Given the description of an element on the screen output the (x, y) to click on. 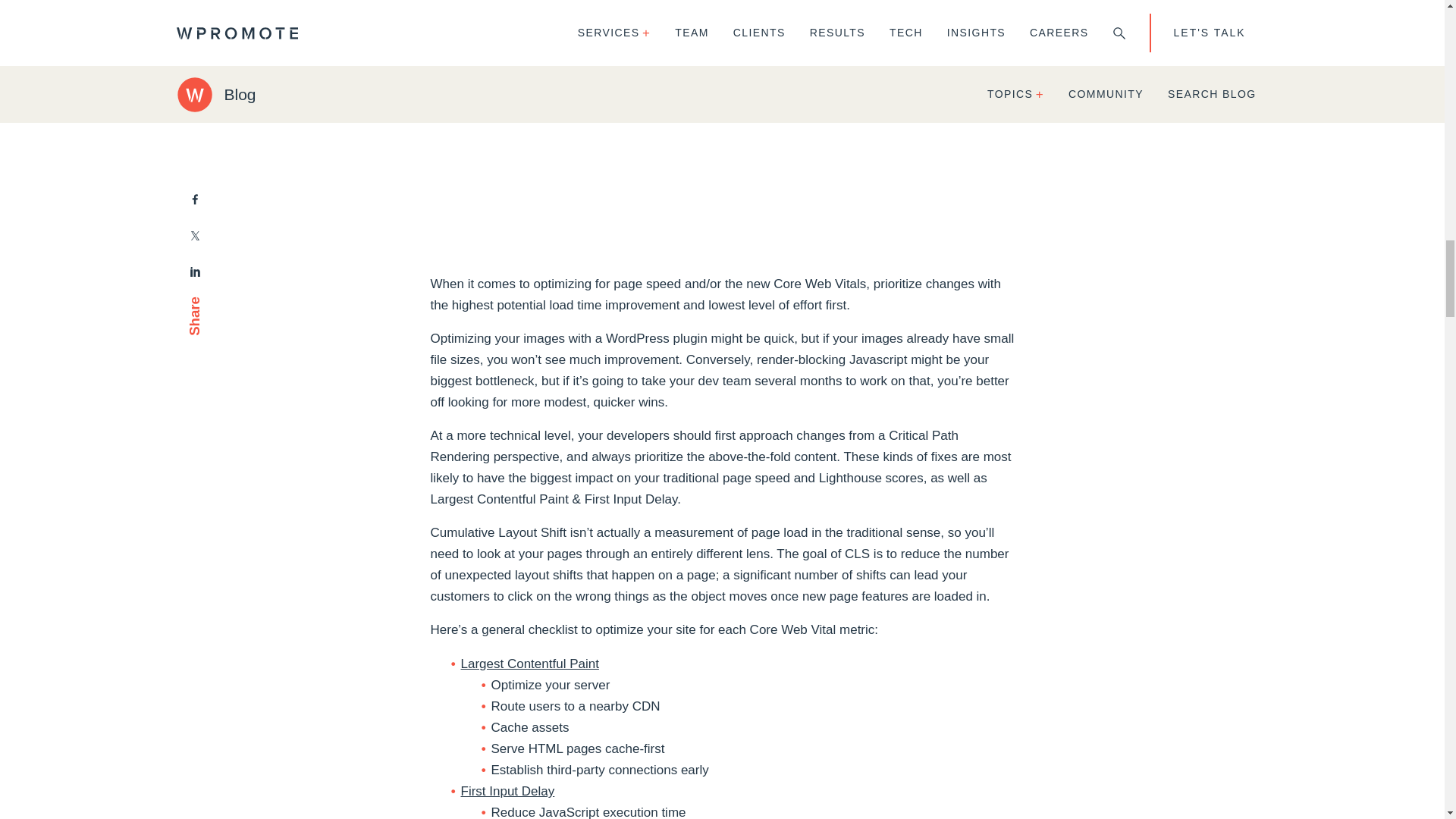
First Input Delay (507, 790)
Largest Contentful Paint (529, 663)
